Given the description of an element on the screen output the (x, y) to click on. 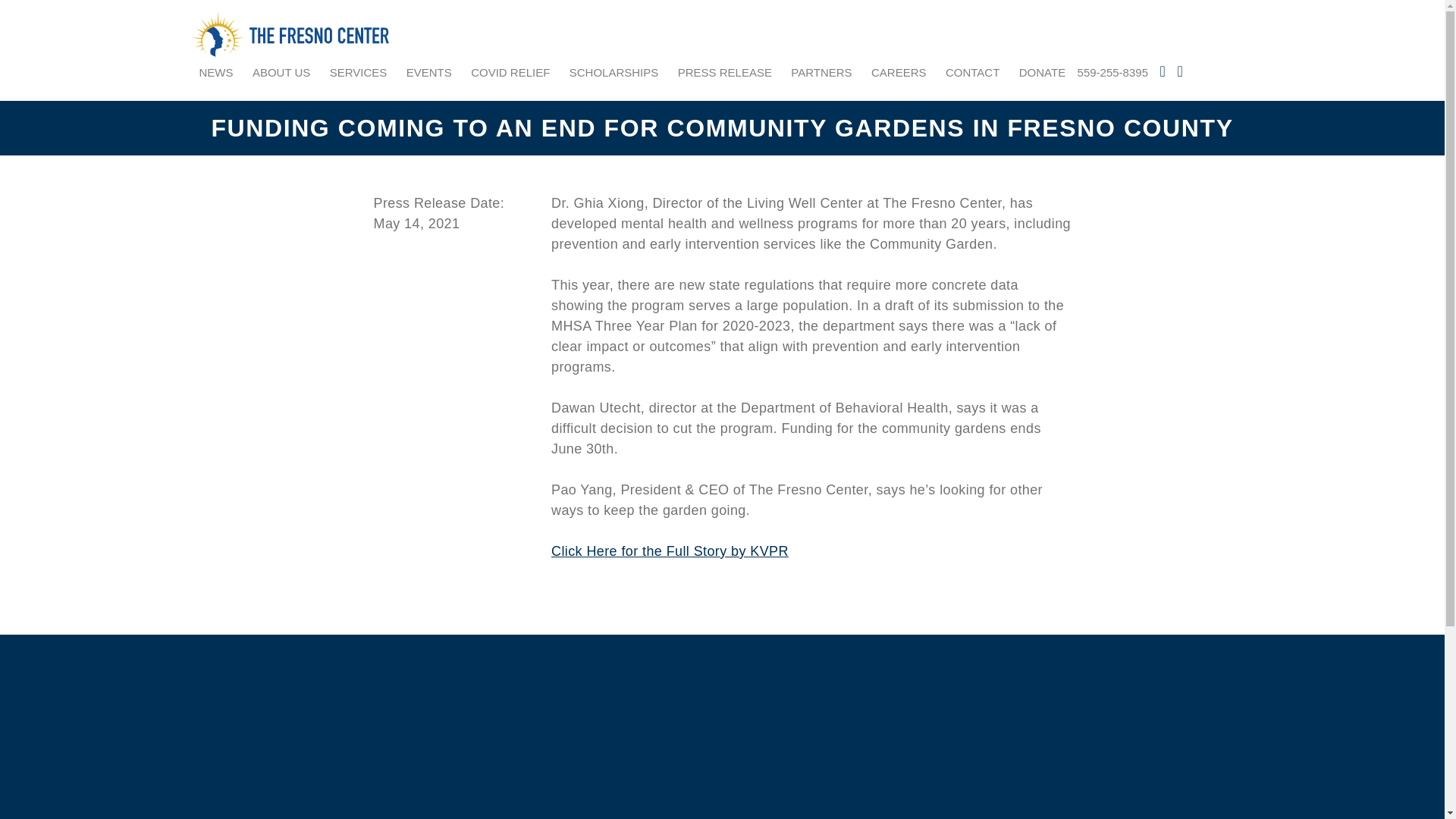
PARTNERS (820, 72)
ABOUT US (280, 72)
The Fresno Center (300, 33)
SCHOLARSHIPS (614, 72)
SERVICES (358, 72)
COVID RELIEF (510, 72)
EVENTS (428, 72)
NEWS (215, 72)
PRESS RELEASE (724, 72)
